Given the description of an element on the screen output the (x, y) to click on. 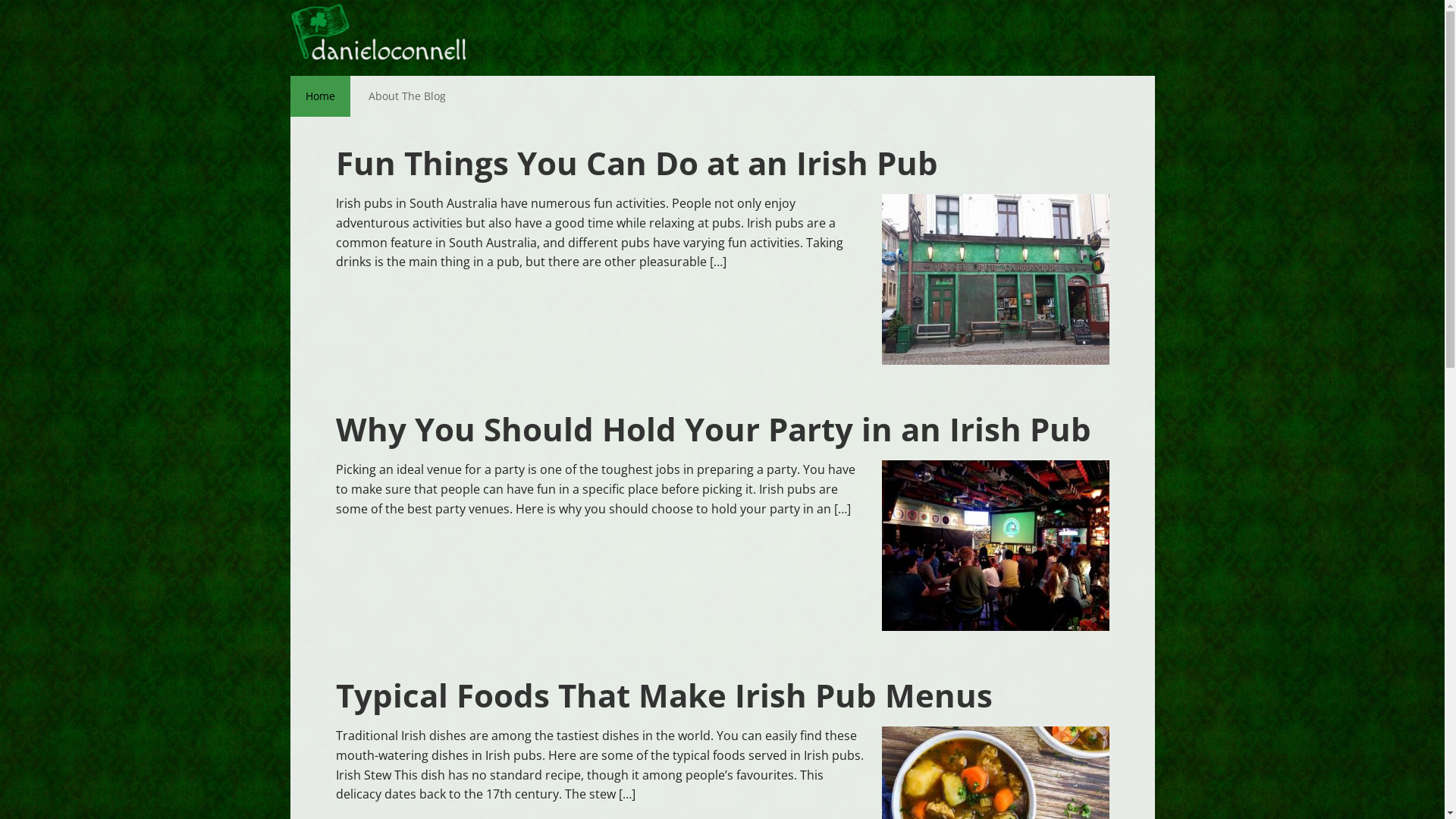
About The Blog Element type: text (407, 95)
Skip to primary navigation Element type: text (289, 0)
Why You Should Hold Your Party in an Irish Pub Element type: text (712, 428)
Home Element type: text (319, 95)
Fun Things You Can Do at an Irish Pub Element type: text (636, 162)
Typical Foods That Make Irish Pub Menus Element type: text (663, 694)
danieloconnell Element type: text (387, 37)
